Given the description of an element on the screen output the (x, y) to click on. 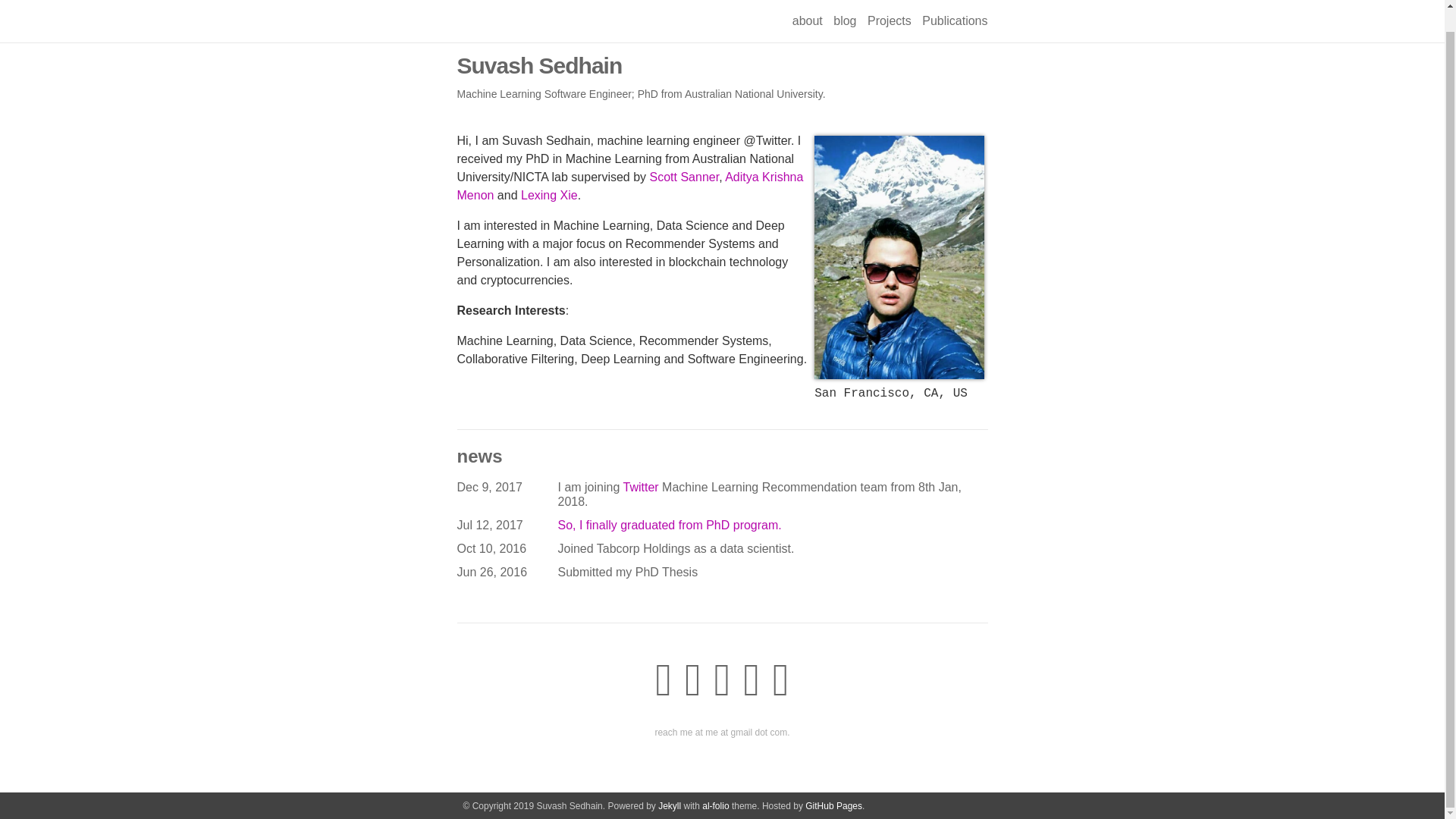
Lexing Xie (549, 194)
blog (844, 2)
Twitter (640, 486)
Jekyll (669, 784)
GitHub Pages (833, 784)
So, I finally graduated from PhD program. (669, 524)
Aditya Krishna Menon (630, 184)
about (807, 2)
al-folio (715, 784)
Publications (954, 2)
